Given the description of an element on the screen output the (x, y) to click on. 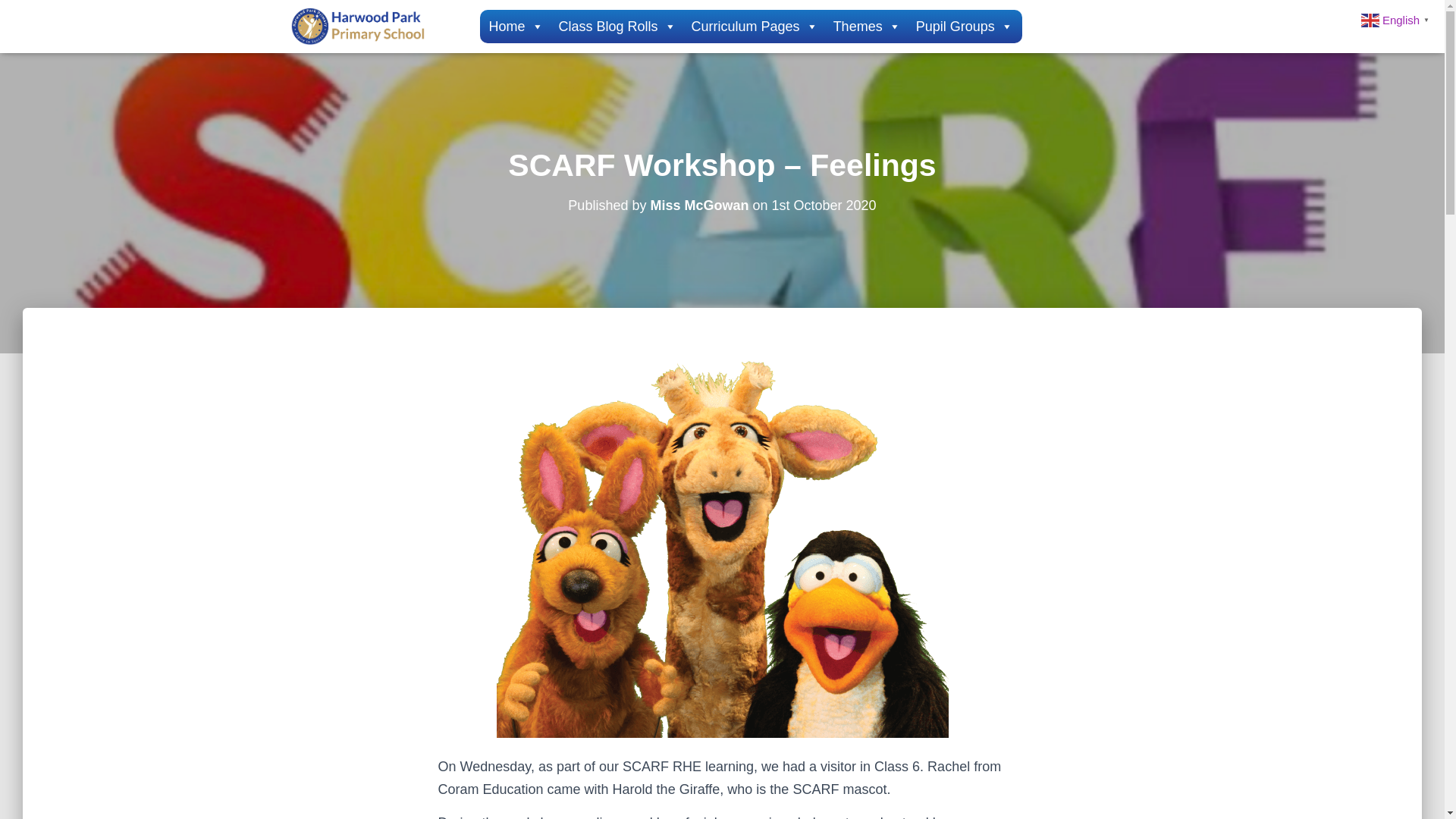
Home (515, 26)
Themes (866, 26)
Curriculum Pages (754, 26)
Harwood Park Blog Pages (360, 26)
Class Blog Rolls (617, 26)
